Given the description of an element on the screen output the (x, y) to click on. 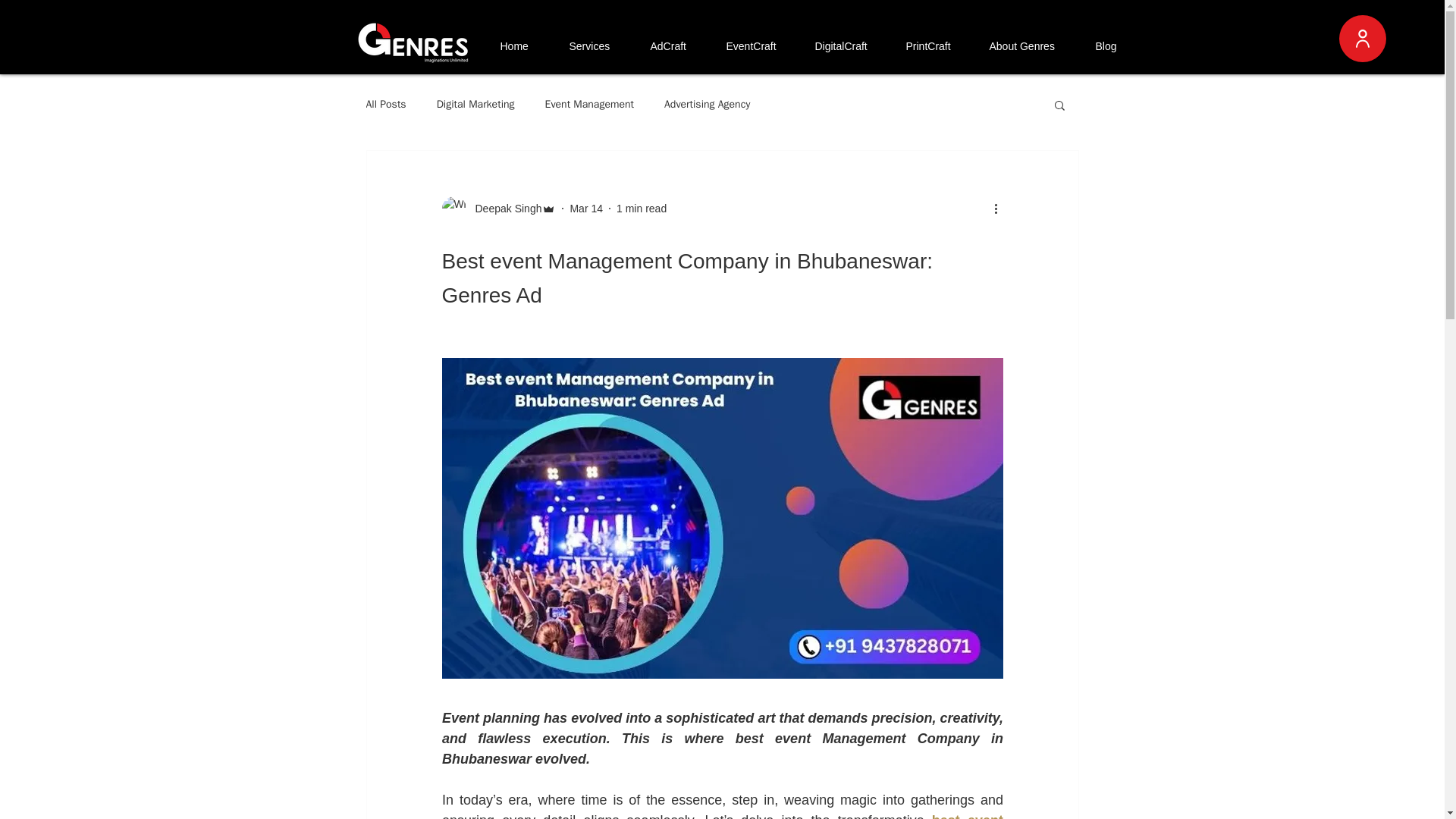
EventCraft (758, 46)
Home (521, 46)
Services (596, 46)
All Posts (385, 104)
Blog (1113, 46)
Deepak Singh (503, 207)
Digital Marketing (475, 104)
Deepak Singh (498, 208)
AdCraft (676, 46)
PrintCraft (934, 46)
